Given the description of an element on the screen output the (x, y) to click on. 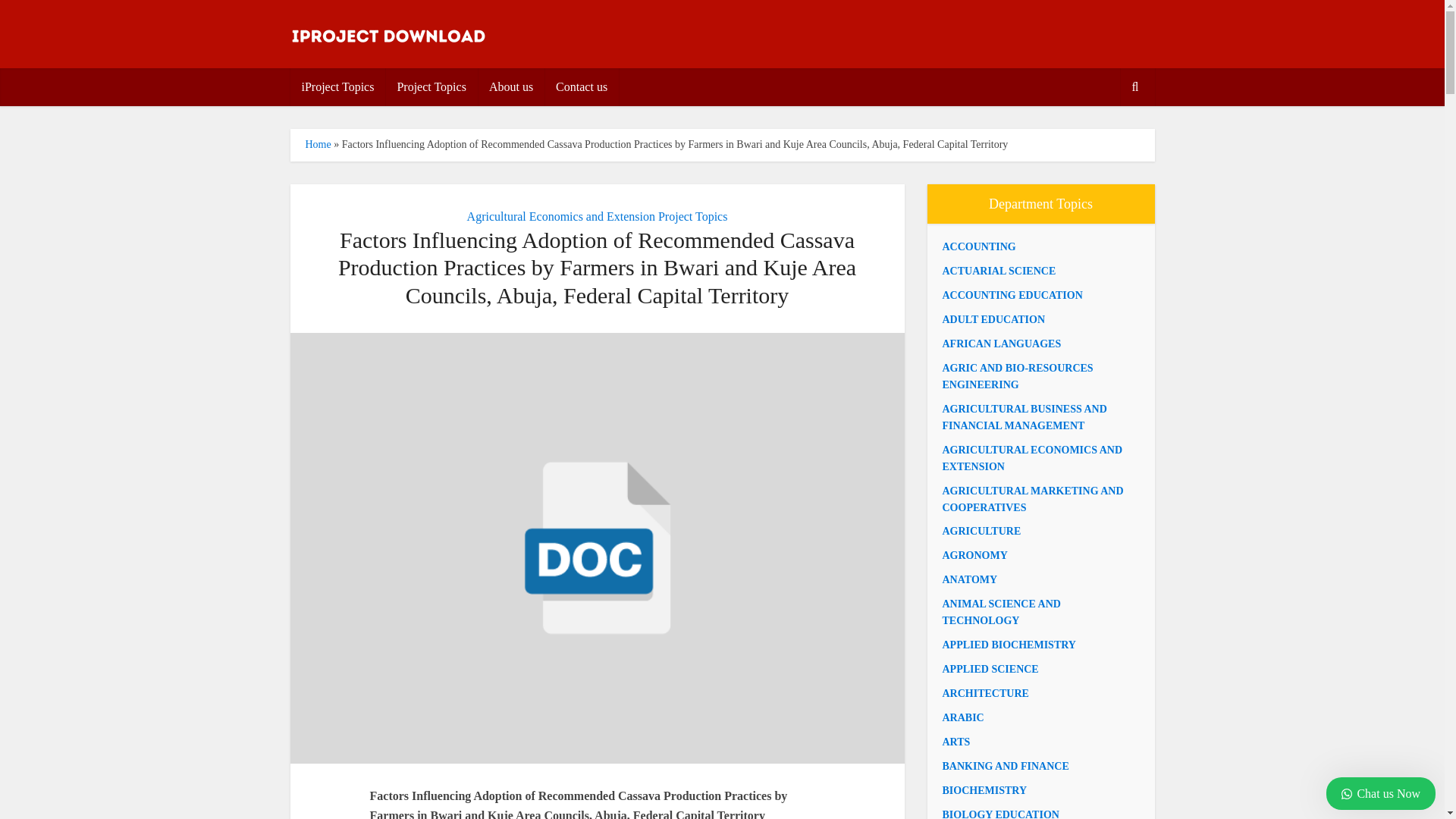
ADULT EDUCATION (993, 319)
AGRICULTURAL MARKETING AND COOPERATIVES (1032, 499)
Project Topics (431, 86)
About us (510, 86)
AFRICAN LANGUAGES (1001, 343)
Contact us (581, 86)
iProject Topics (337, 86)
Home (317, 143)
Agricultural Economics and Extension Project Topics (597, 215)
ACTUARIAL SCIENCE (998, 270)
ACCOUNTING EDUCATION (1011, 295)
AGRICULTURAL BUSINESS AND FINANCIAL MANAGEMENT (1024, 417)
AGRIC AND BIO-RESOURCES ENGINEERING (1017, 376)
AGRICULTURAL ECONOMICS AND EXTENSION (1032, 458)
ACCOUNTING (978, 246)
